Given the description of an element on the screen output the (x, y) to click on. 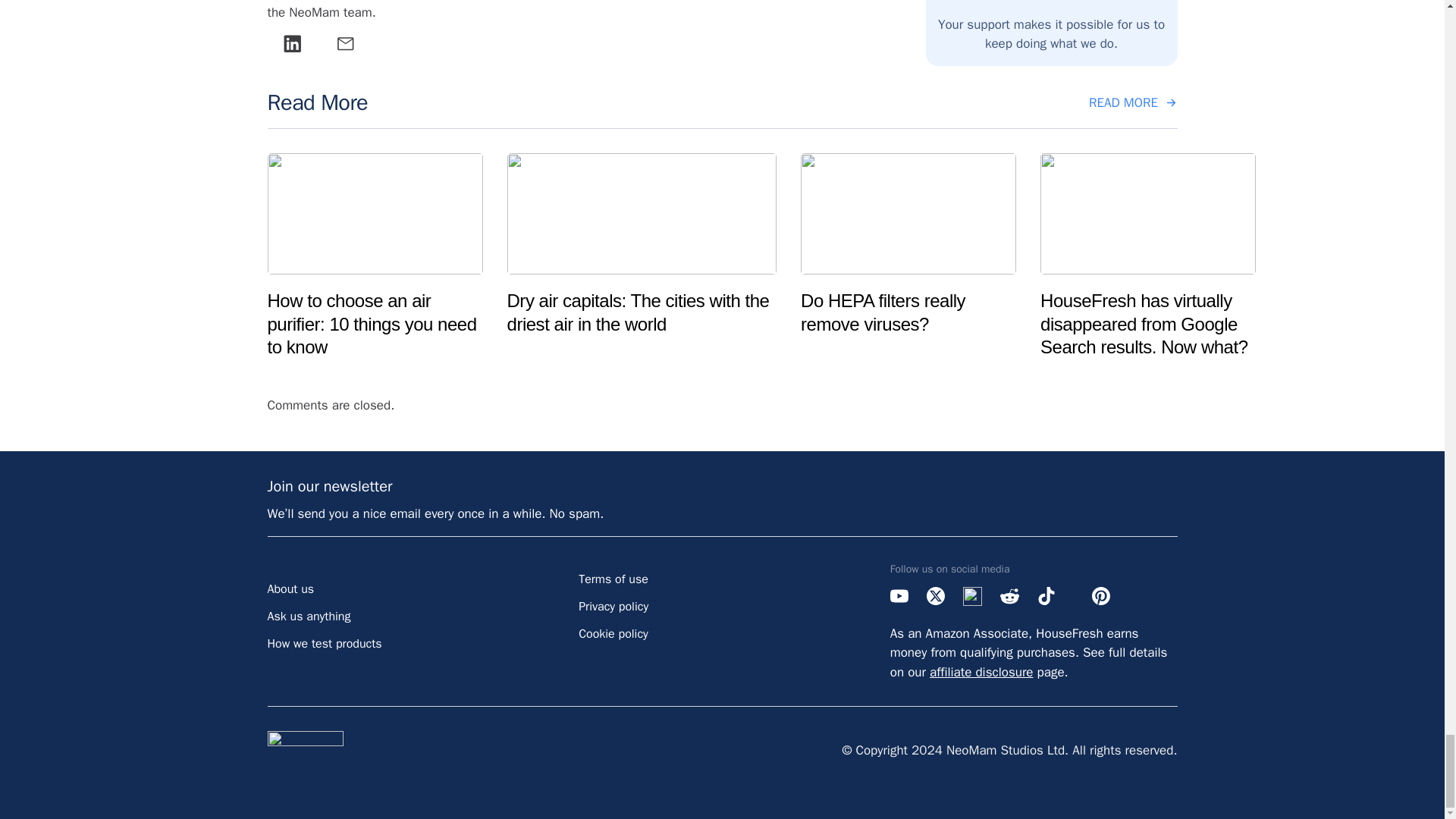
youtube-icon (898, 596)
